Given the description of an element on the screen output the (x, y) to click on. 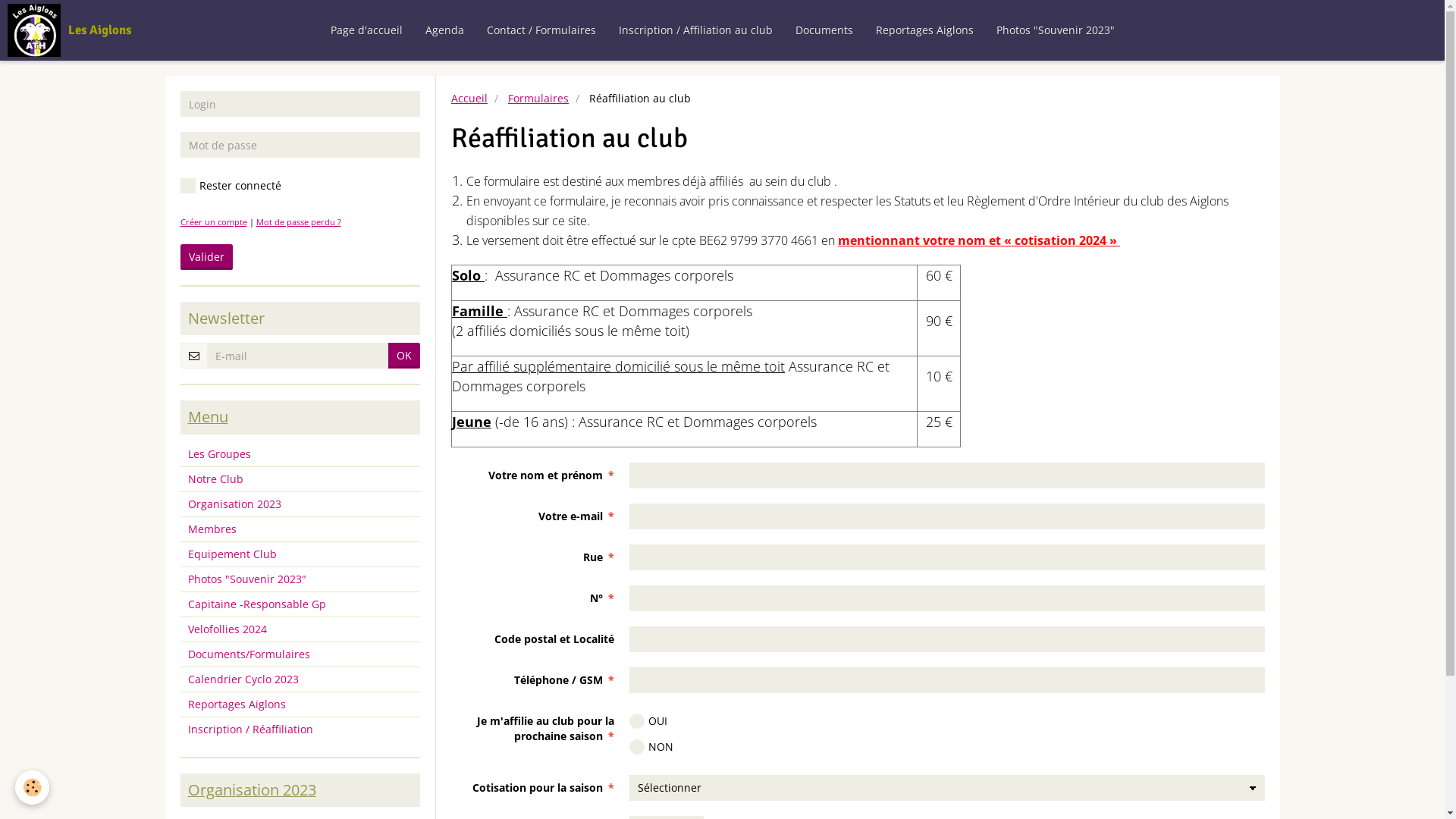
Reportages Aiglons Element type: text (300, 704)
Organisation 2023 Element type: text (300, 504)
Accueil Element type: text (469, 98)
Photos "Souvenir 2023" Element type: text (1054, 30)
Photos "Souvenir 2023" Element type: text (300, 579)
Formulaires Element type: text (538, 98)
Page d'accueil Element type: text (365, 30)
Contact / Formulaires Element type: text (540, 30)
Documents Element type: text (824, 30)
Reportages Aiglons Element type: text (924, 30)
Menu Element type: text (208, 416)
Inscription / Affiliation au club Element type: text (694, 30)
Capitaine -Responsable Gp Element type: text (300, 604)
OK Element type: text (404, 355)
Mot de passe perdu ? Element type: text (298, 221)
Les Aiglons Element type: text (69, 30)
Calendrier Cyclo 2023 Element type: text (300, 679)
Notre Club Element type: text (300, 479)
Organisation 2023 Element type: text (252, 789)
Equipement Club Element type: text (300, 554)
Les Groupes Element type: text (300, 454)
Velofollies 2024 Element type: text (300, 629)
Valider Element type: text (206, 256)
Documents/Formulaires Element type: text (300, 654)
Membres Element type: text (300, 529)
Agenda Element type: text (444, 30)
